Given the description of an element on the screen output the (x, y) to click on. 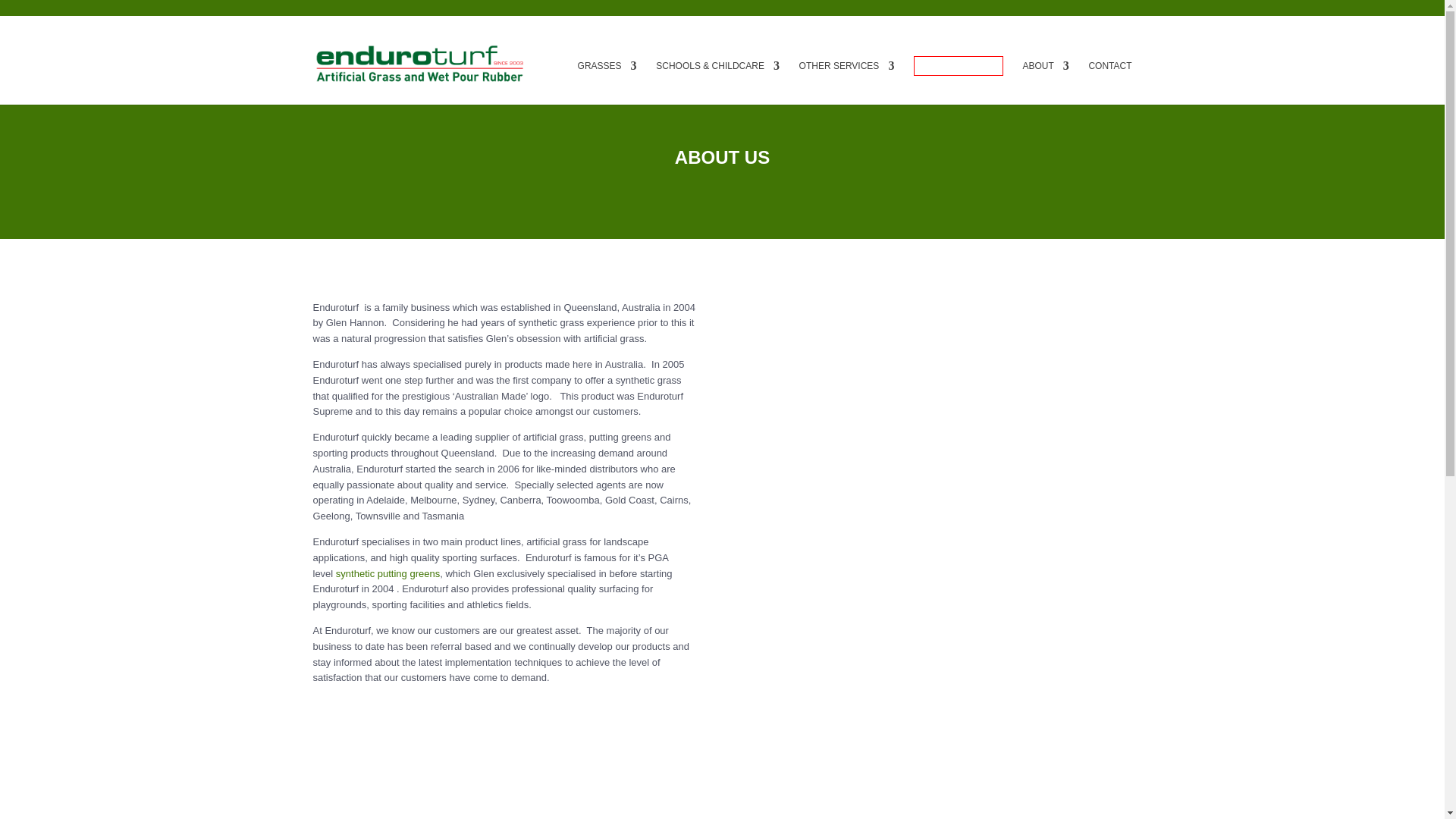
SHOP ONLINE DIY (958, 66)
CONTACT (1109, 82)
ABOUT (1045, 82)
GRASSES (607, 82)
OTHER SERVICES (847, 82)
synthetic putting greens (387, 573)
